Given the description of an element on the screen output the (x, y) to click on. 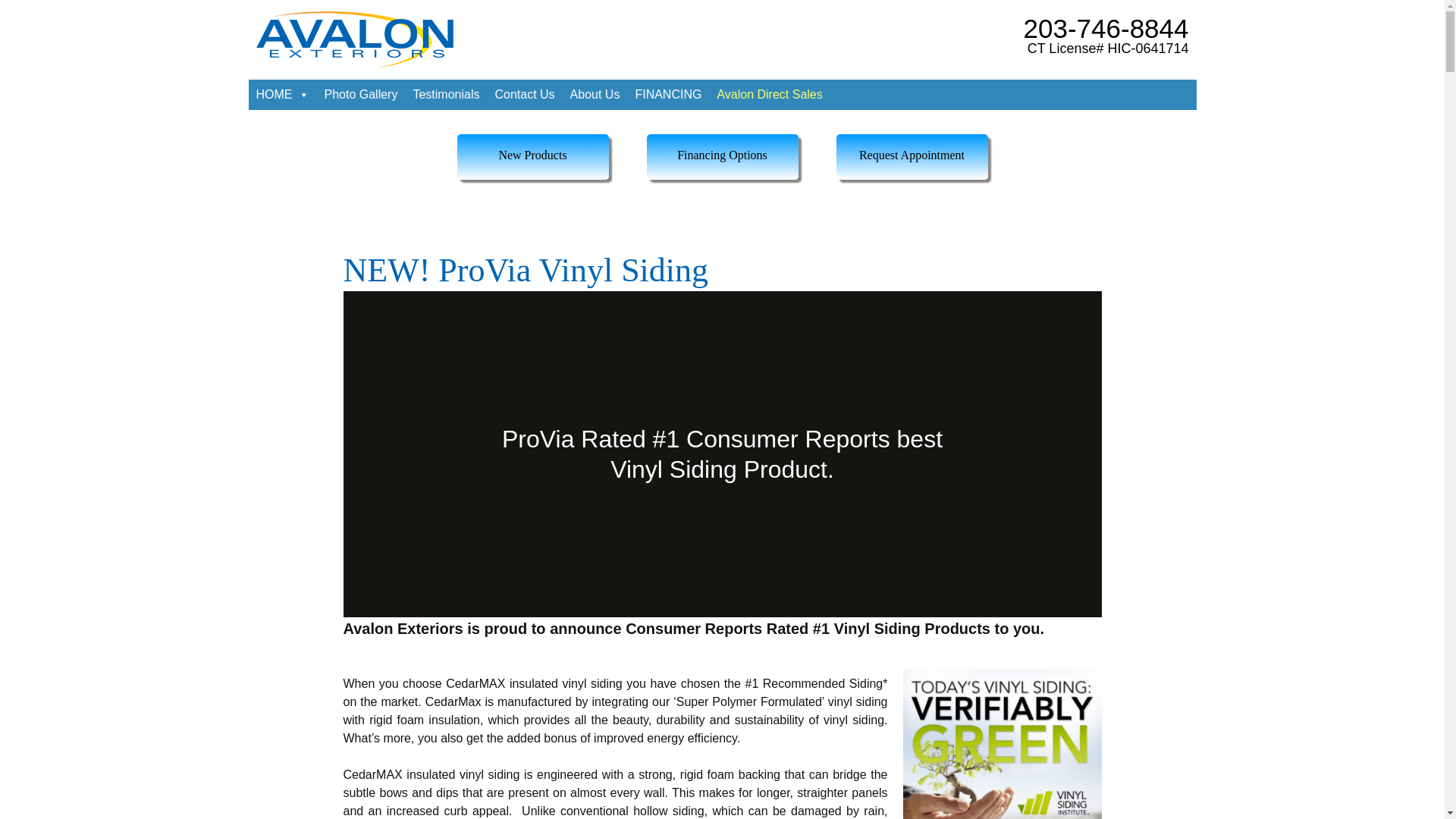
HOME (282, 94)
